Given the description of an element on the screen output the (x, y) to click on. 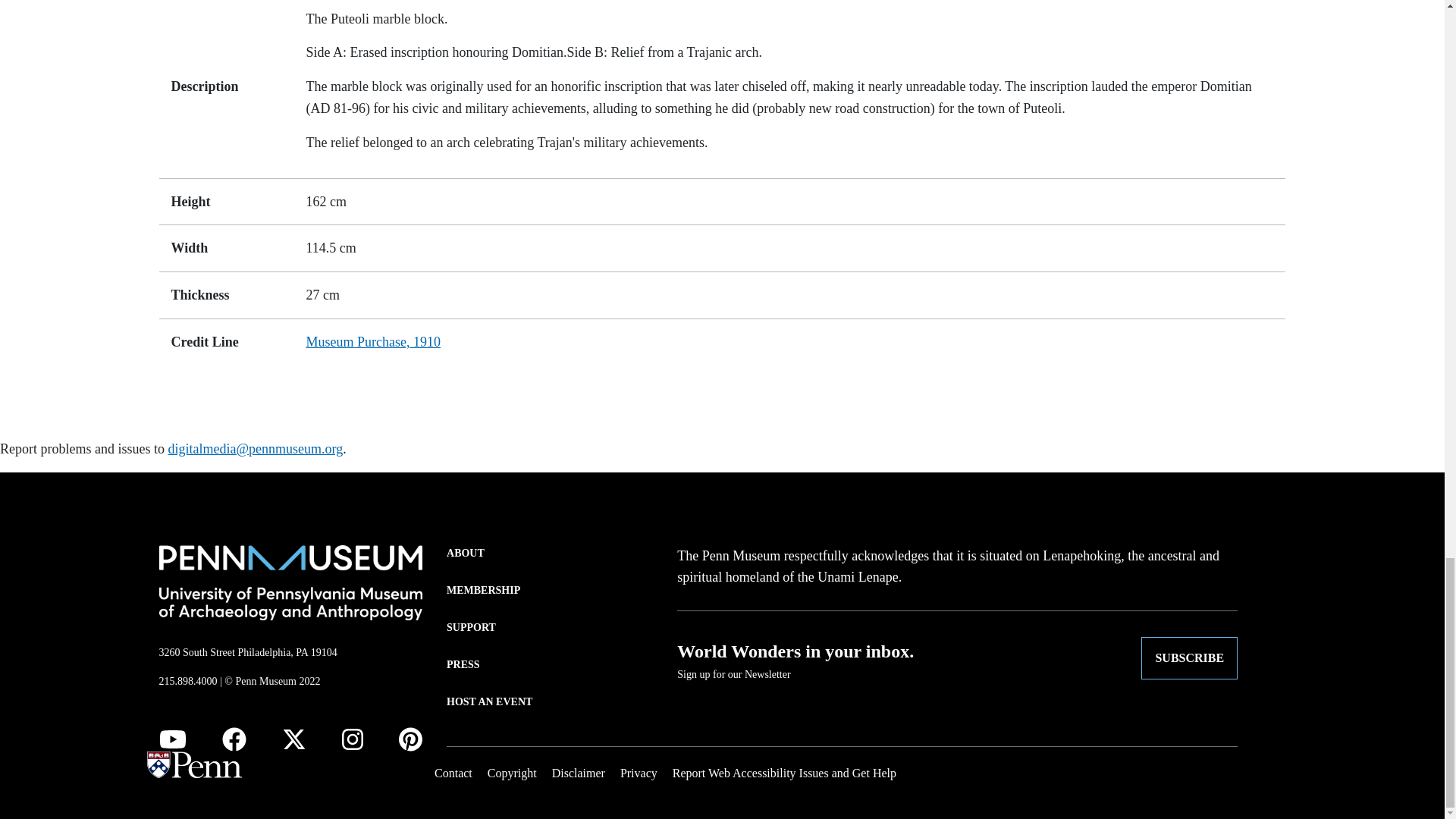
Report Web Accessibility Issues and Get Help (784, 772)
Copyright (512, 772)
Pinterest (410, 739)
Disclaimer (578, 772)
Privacy (639, 772)
Twitter (293, 739)
Contact (452, 772)
Facebook (234, 739)
Youtube (172, 739)
